Given the description of an element on the screen output the (x, y) to click on. 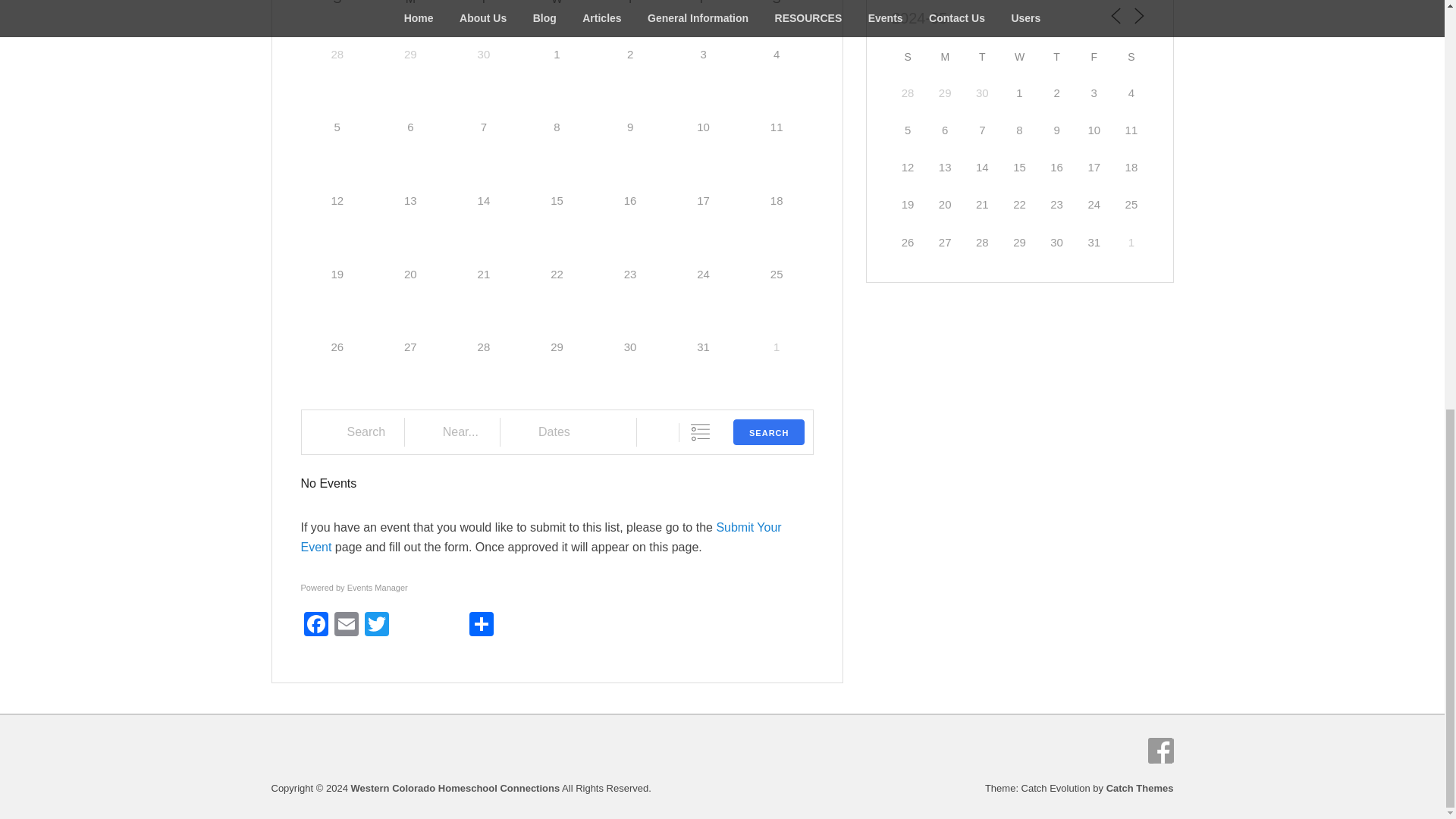
Western Colorado Homeschool Connections (454, 787)
Twitter (376, 625)
Email (345, 625)
Grouped Lists (700, 432)
Catch Themes (1139, 787)
Facebook (1160, 750)
SEARCH (769, 432)
Facebook (314, 625)
2024-05 (943, 18)
